Given the description of an element on the screen output the (x, y) to click on. 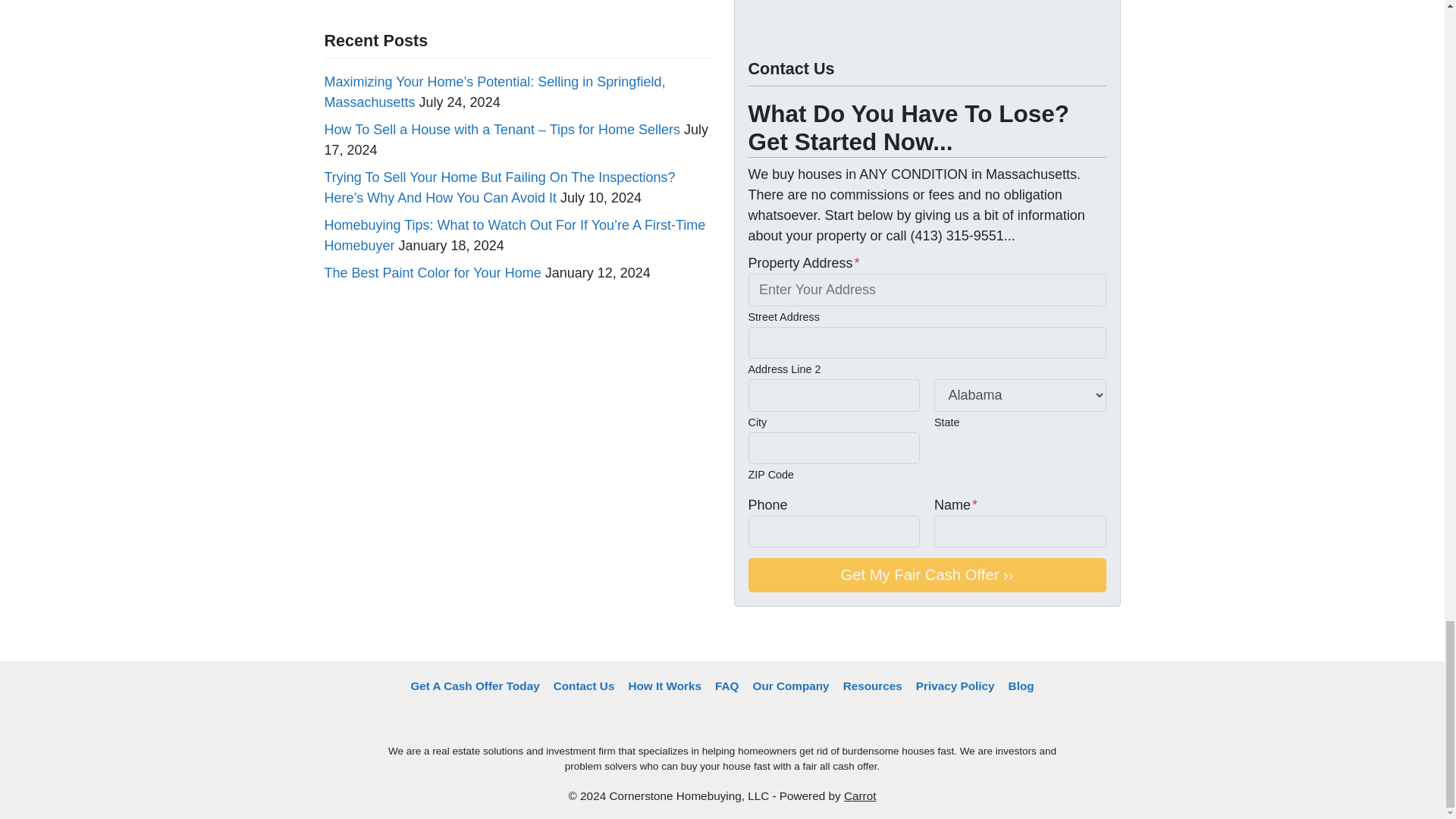
The Best Paint Color for Your Home (432, 272)
Contact Us (584, 685)
Get A Cash Offer Today (474, 685)
FAQ (726, 685)
Privacy Policy (954, 685)
Our Company (790, 685)
How It Works (664, 685)
Blog (1021, 685)
Resources (871, 685)
